Given the description of an element on the screen output the (x, y) to click on. 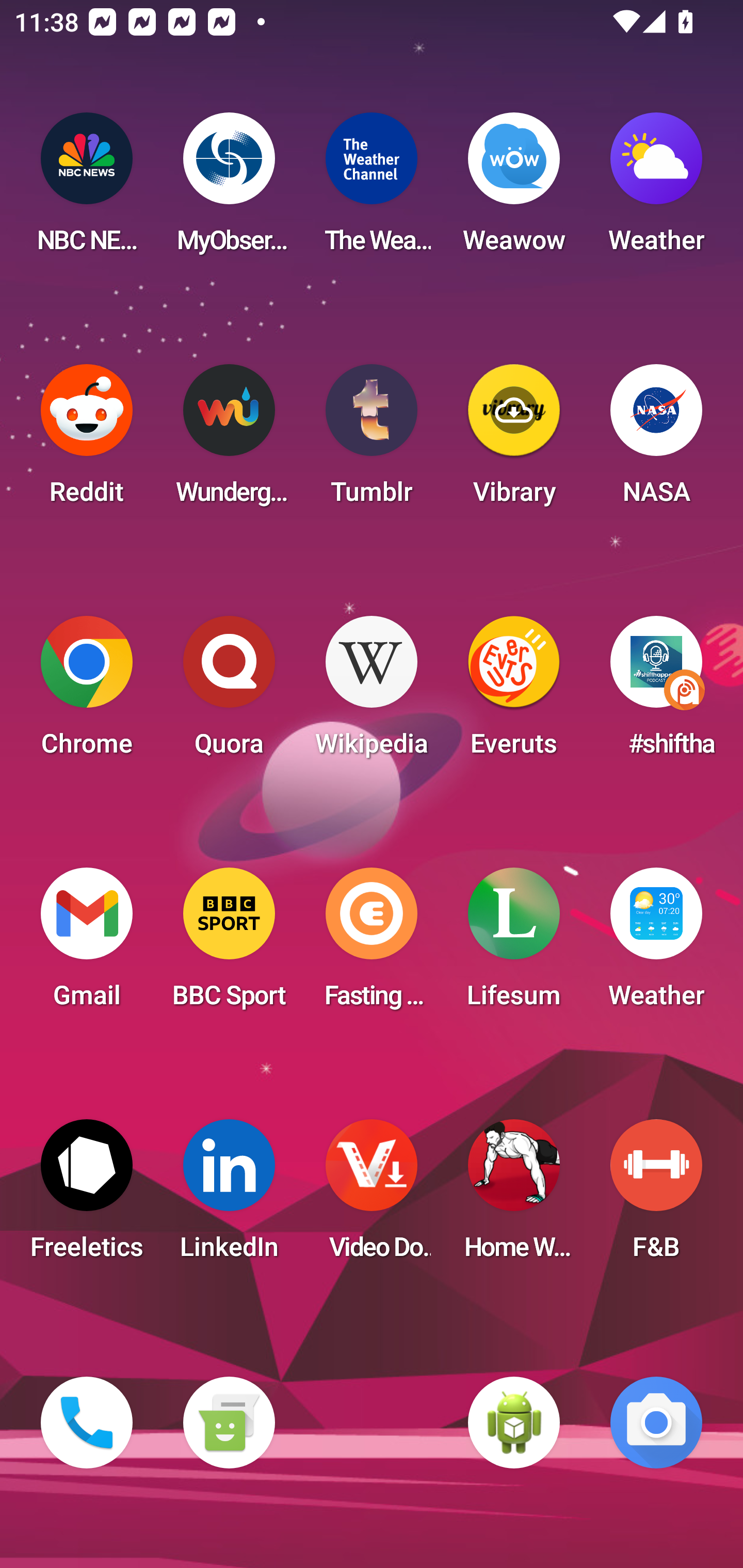
NBC NEWS (86, 188)
MyObservatory (228, 188)
The Weather Channel (371, 188)
Weawow (513, 188)
Weather (656, 188)
Reddit (86, 440)
Wunderground (228, 440)
Tumblr (371, 440)
Vibrary (513, 440)
NASA (656, 440)
Chrome (86, 692)
Quora (228, 692)
Wikipedia (371, 692)
Everuts (513, 692)
#shifthappens in the Digital Workplace Podcast (656, 692)
Gmail (86, 943)
BBC Sport (228, 943)
Fasting Coach (371, 943)
Lifesum (513, 943)
Weather (656, 943)
Freeletics (86, 1195)
LinkedIn (228, 1195)
Video Downloader & Ace Player (371, 1195)
Home Workout (513, 1195)
F&B (656, 1195)
Phone (86, 1422)
Messaging (228, 1422)
WebView Browser Tester (513, 1422)
Camera (656, 1422)
